Given the description of an element on the screen output the (x, y) to click on. 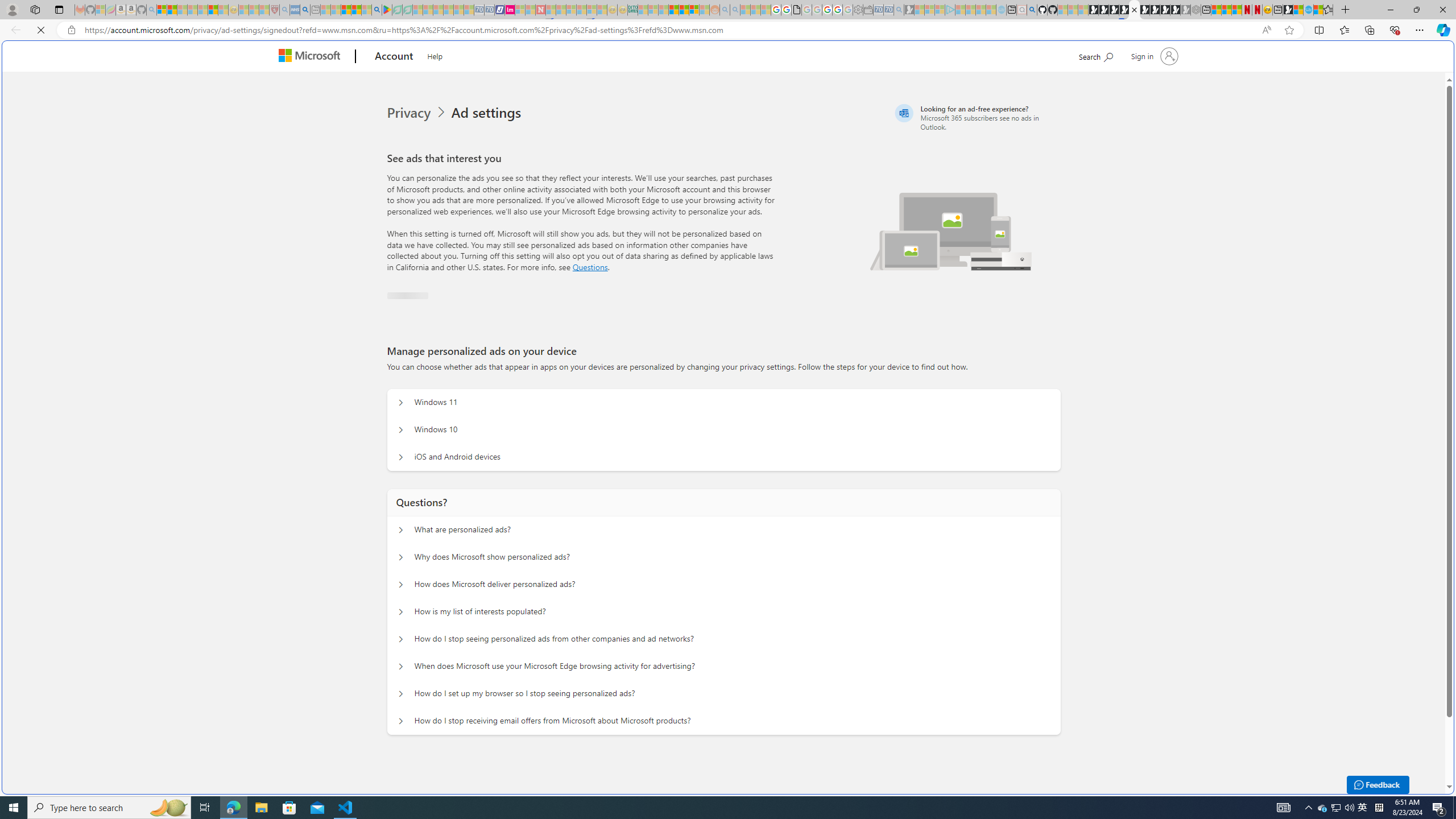
Illustration of multiple devices (951, 224)
Robert H. Shmerling, MD - Harvard Health - Sleeping (273, 9)
google - Search (376, 9)
DITOGAMES AG Imprint (632, 9)
Sign in to your account (1153, 55)
Bluey: Let's Play! - Apps on Google Play (387, 9)
